Given the description of an element on the screen output the (x, y) to click on. 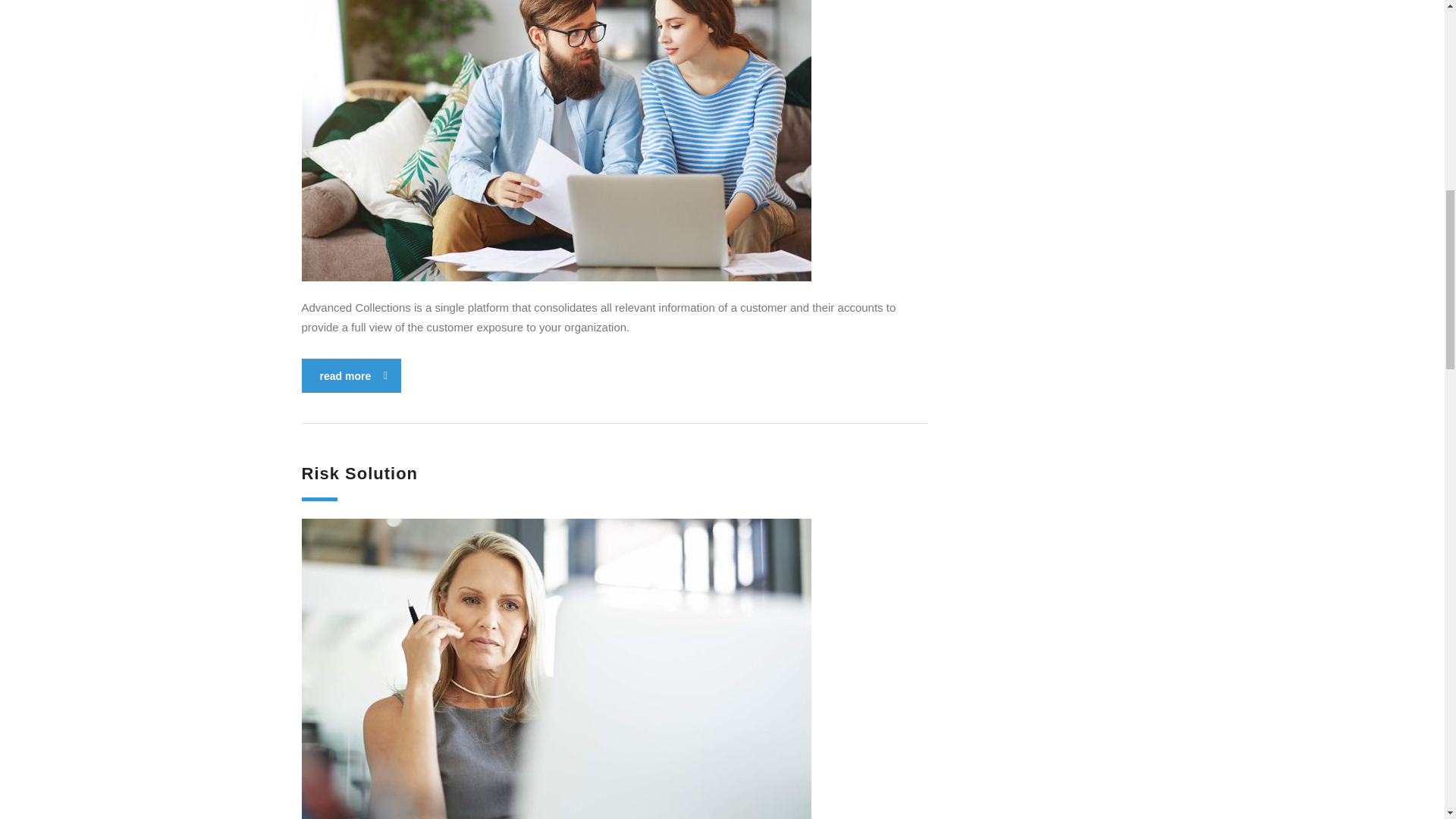
read more (351, 375)
